Given the description of an element on the screen output the (x, y) to click on. 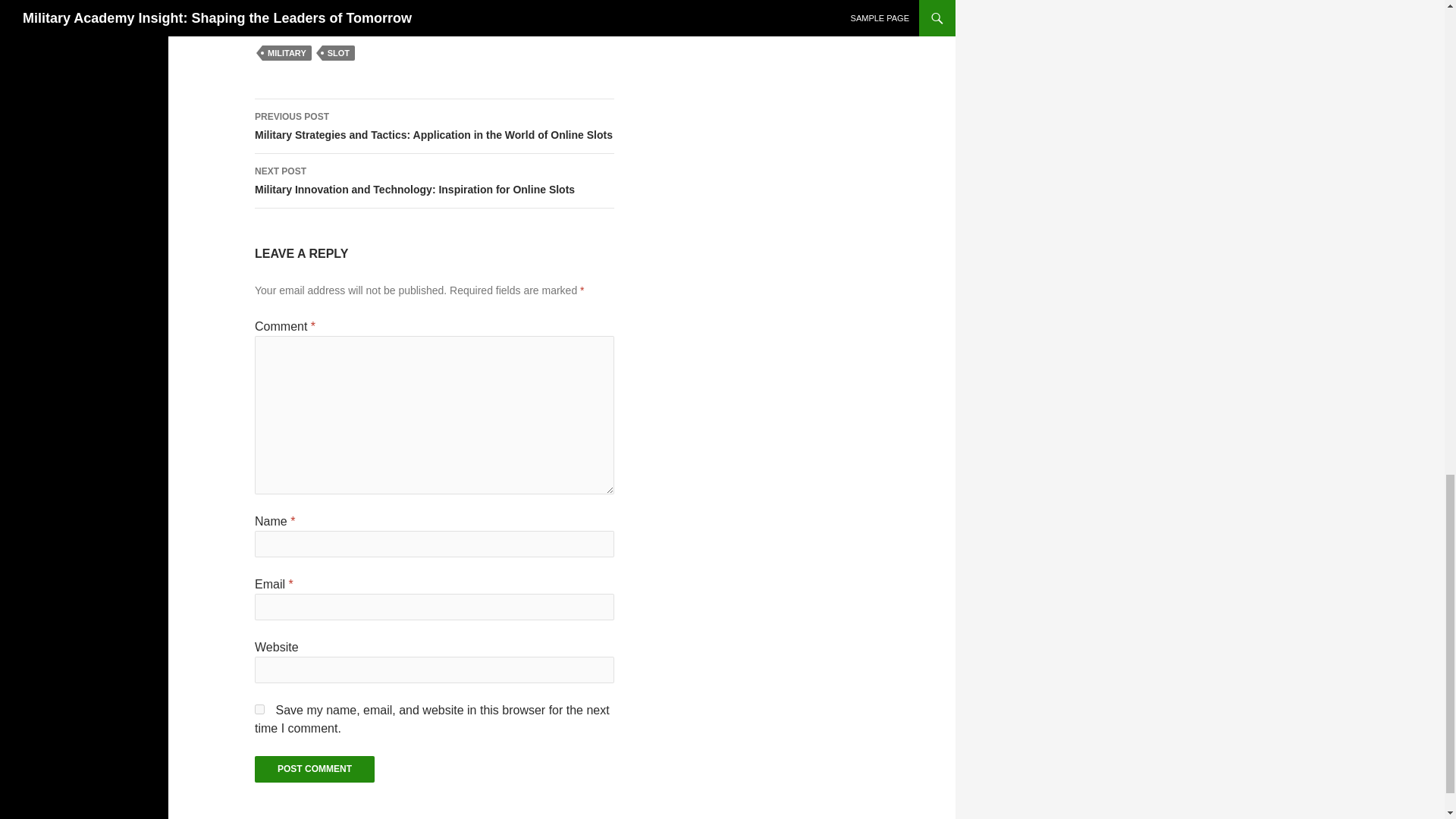
MILITARY (286, 52)
SLOT (338, 52)
yes (259, 709)
Post Comment (314, 768)
Post Comment (314, 768)
